Given the description of an element on the screen output the (x, y) to click on. 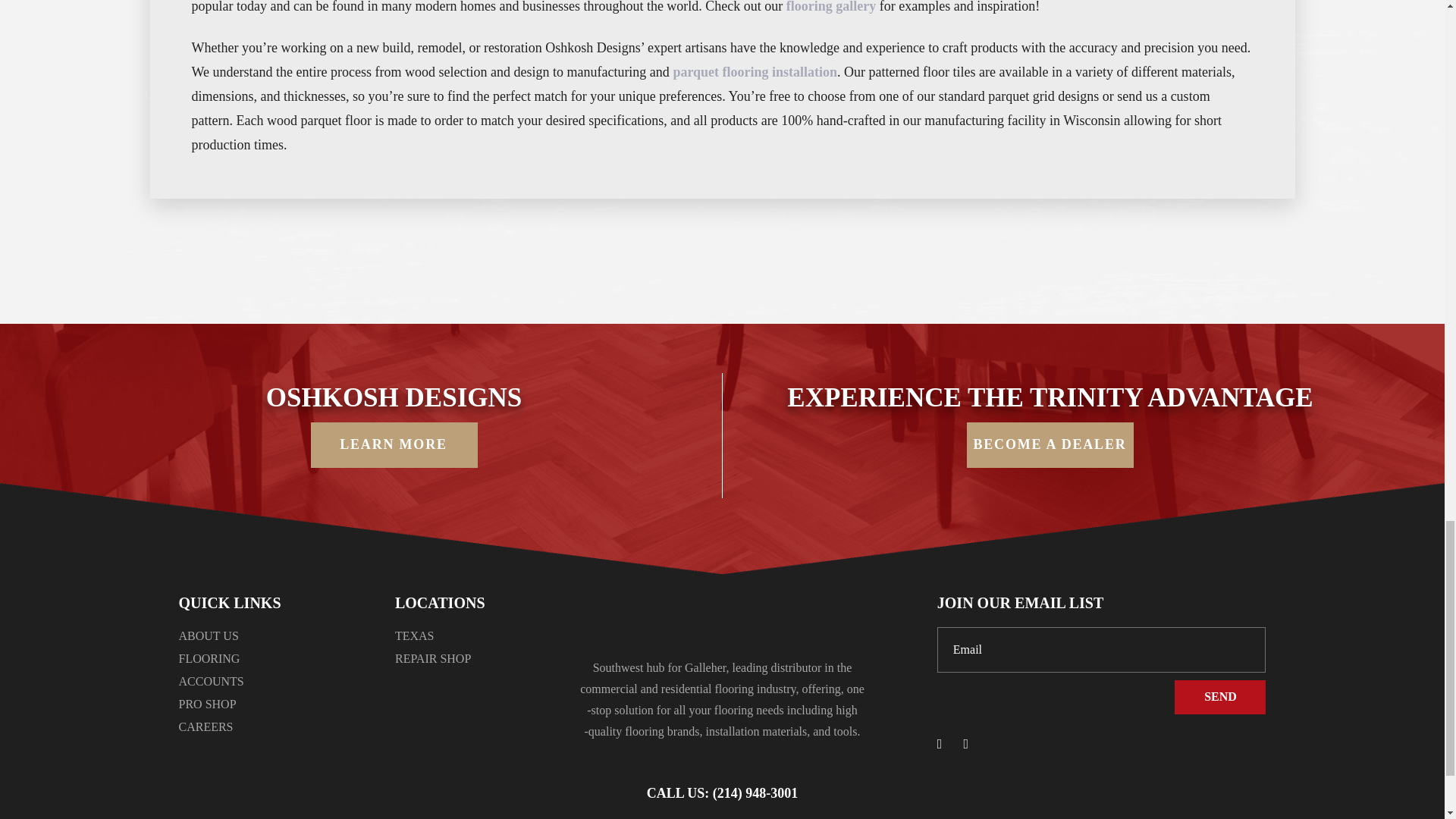
parquet flooring installation (754, 71)
Dealer (1050, 444)
flooring gallery (831, 6)
